Given the description of an element on the screen output the (x, y) to click on. 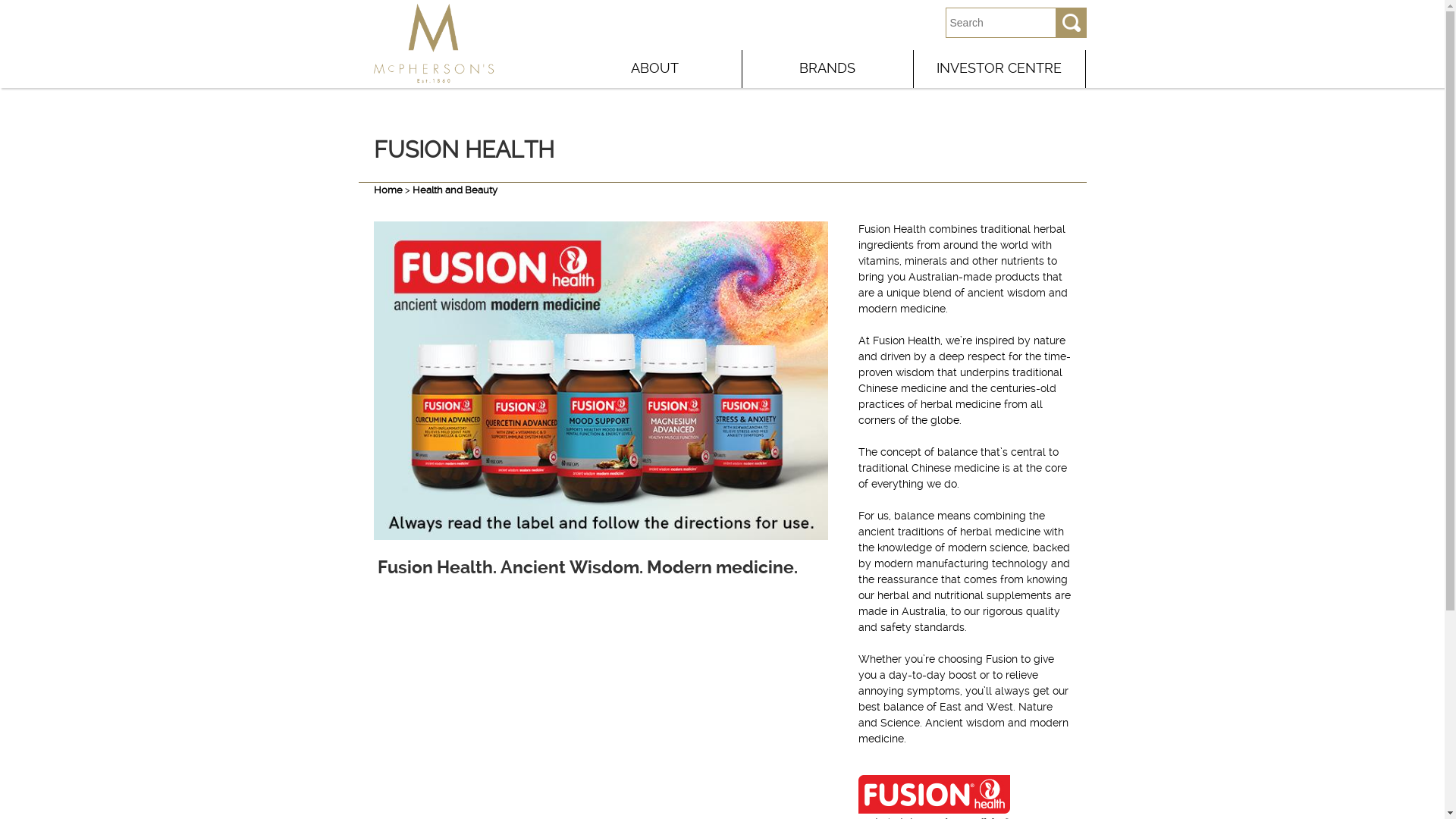
Skip to main content Element type: text (658, 87)
Fusion Health Element type: hover (600, 380)
Contact Us Element type: text (878, 22)
Home Element type: text (387, 189)
BRANDS Element type: text (826, 67)
INVESTOR CENTRE Element type: text (998, 67)
ABOUT Element type: text (654, 67)
Home page Element type: hover (433, 75)
Enter the terms you wish to search for. Element type: hover (999, 22)
Health and Beauty Element type: text (454, 189)
Search Element type: text (1070, 22)
